Given the description of an element on the screen output the (x, y) to click on. 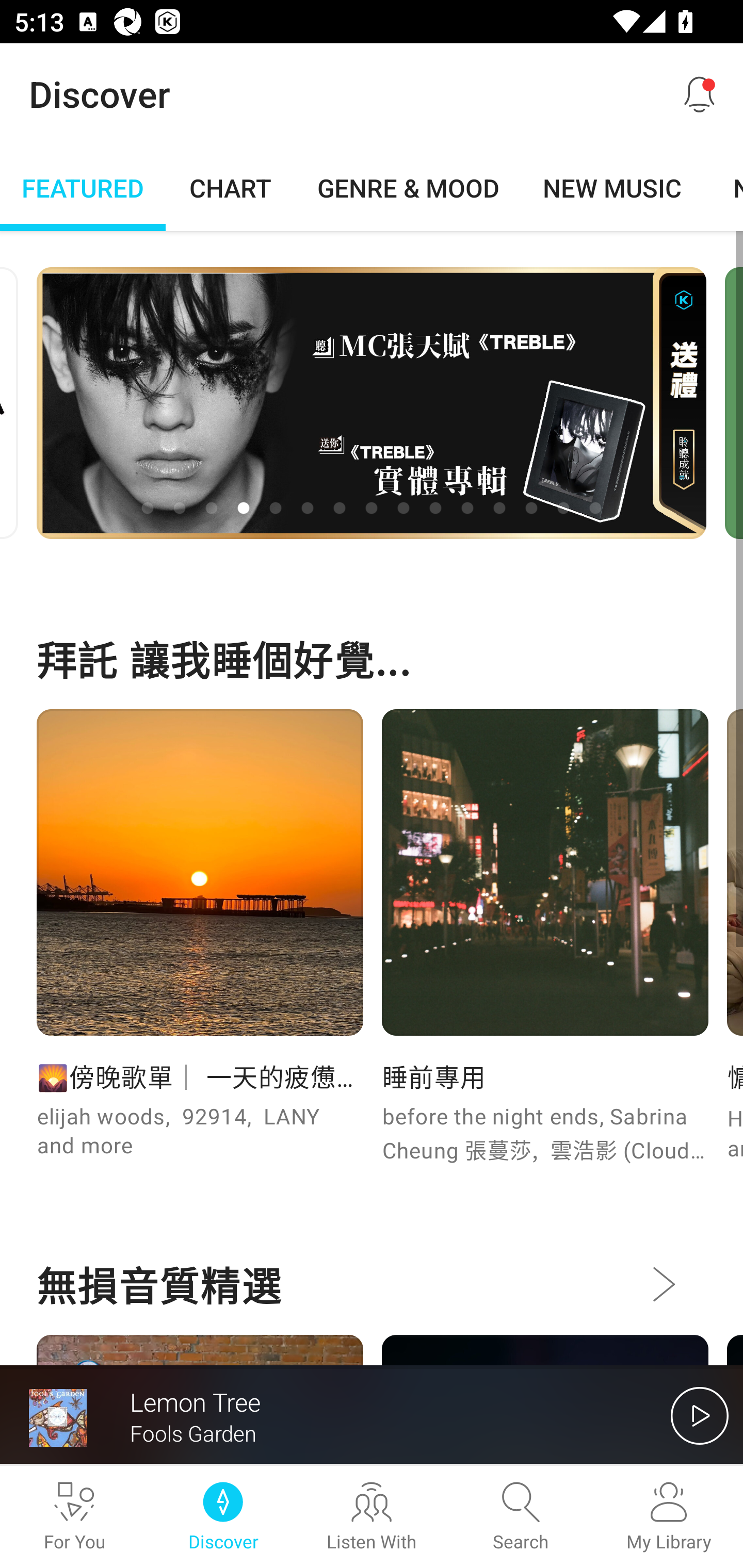
Notification (699, 93)
CHART (230, 187)
GENRE & MOOD (407, 187)
NEW MUSIC (611, 187)
活動徽章：MC (371, 402)
more (662, 1284)
開始播放 (699, 1415)
For You (74, 1517)
Discover (222, 1517)
Listen With (371, 1517)
Search (519, 1517)
My Library (668, 1517)
